Given the description of an element on the screen output the (x, y) to click on. 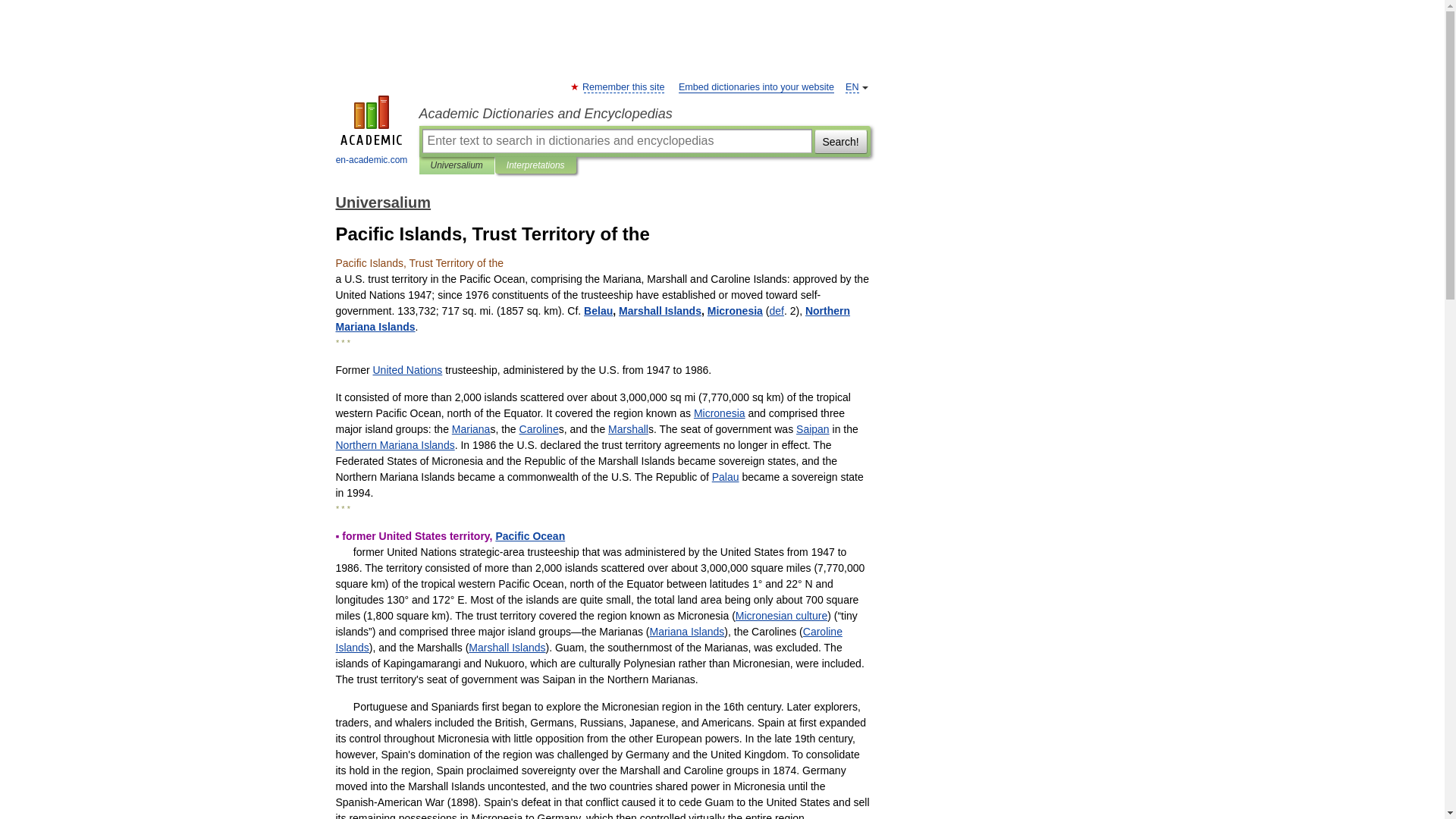
Remember this site (623, 87)
Mariana Islands (686, 631)
Micronesian culture (781, 615)
Pacific Ocean (529, 535)
Marshall Islands (506, 647)
Universalium (382, 202)
Embed dictionaries into your website (756, 87)
Enter text to search in dictionaries and encyclopedias (616, 140)
Interpretations (535, 165)
Mariana (470, 428)
en-academic.com (371, 131)
def (775, 310)
Northern Mariana Islands (394, 444)
Saipan (812, 428)
Academic Dictionaries and Encyclopedias (644, 114)
